Given the description of an element on the screen output the (x, y) to click on. 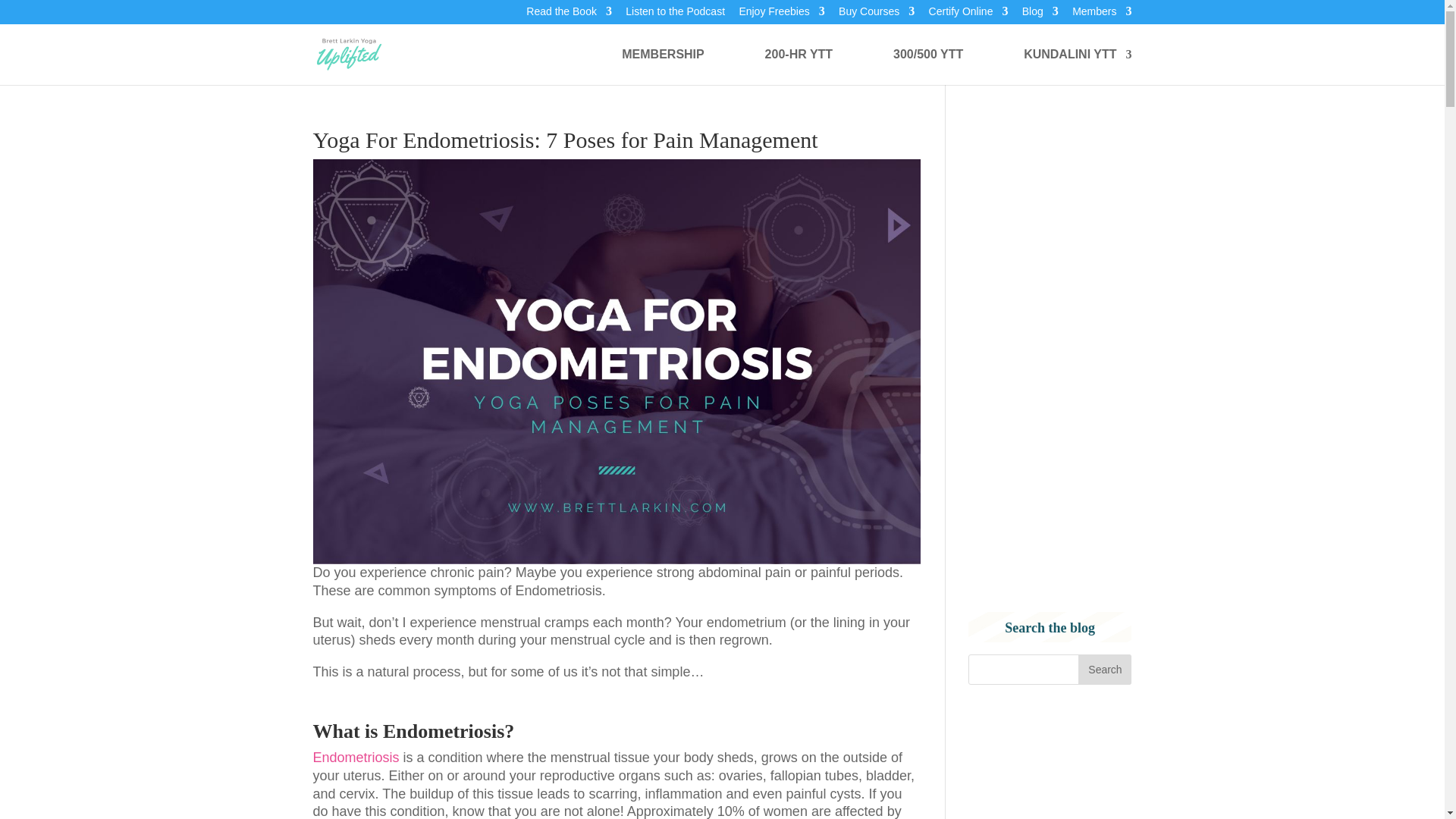
Read the Book (568, 15)
Online Yoga Teacher Training (798, 66)
Buy Courses (876, 15)
Blog (1040, 15)
Enjoy Freebies (781, 15)
Certify Online (968, 15)
Search (1104, 669)
Listen to the Podcast (675, 15)
